Given the description of an element on the screen output the (x, y) to click on. 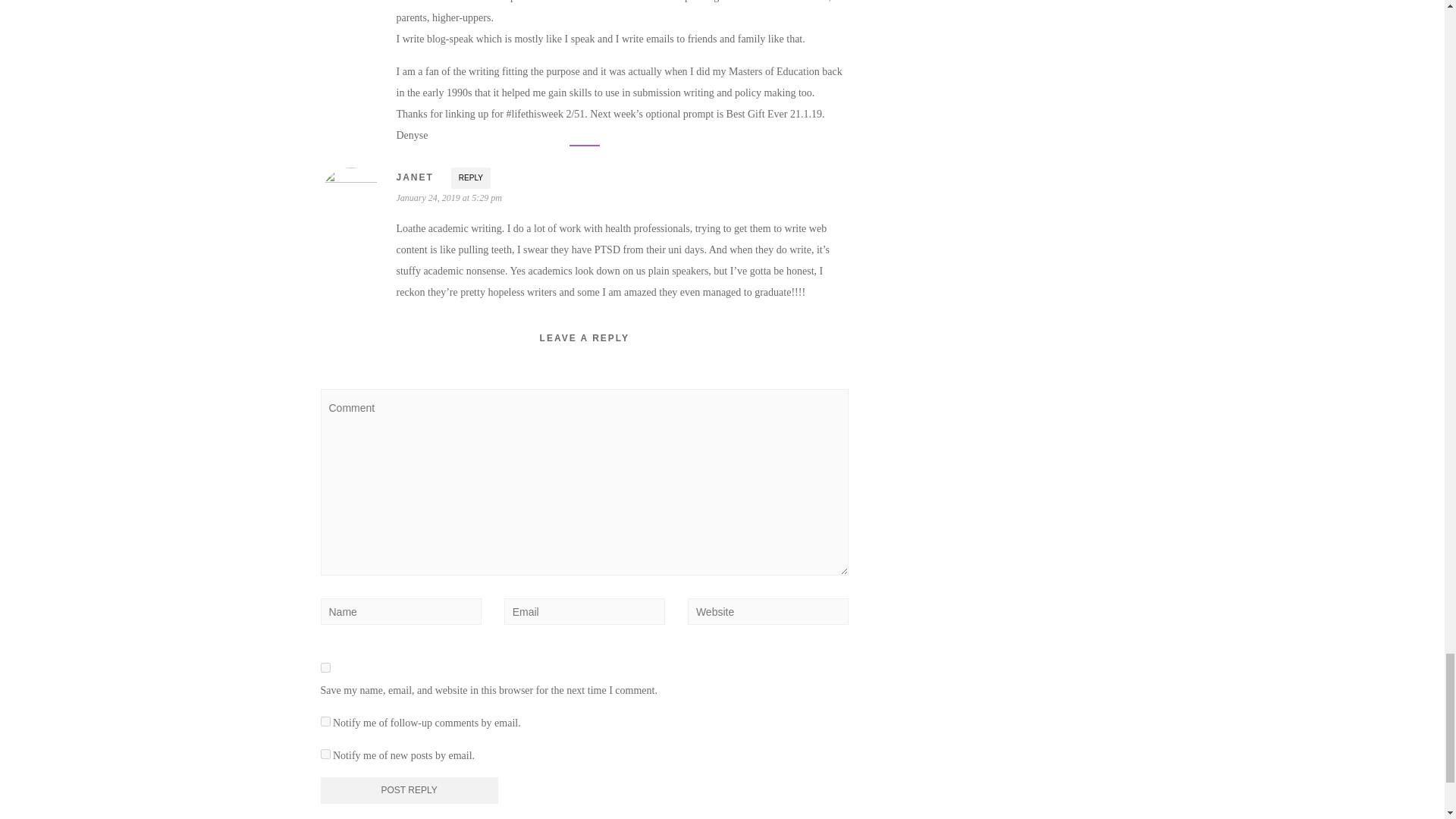
yes (325, 667)
subscribe (325, 721)
subscribe (325, 754)
Post Reply (408, 790)
